Given the description of an element on the screen output the (x, y) to click on. 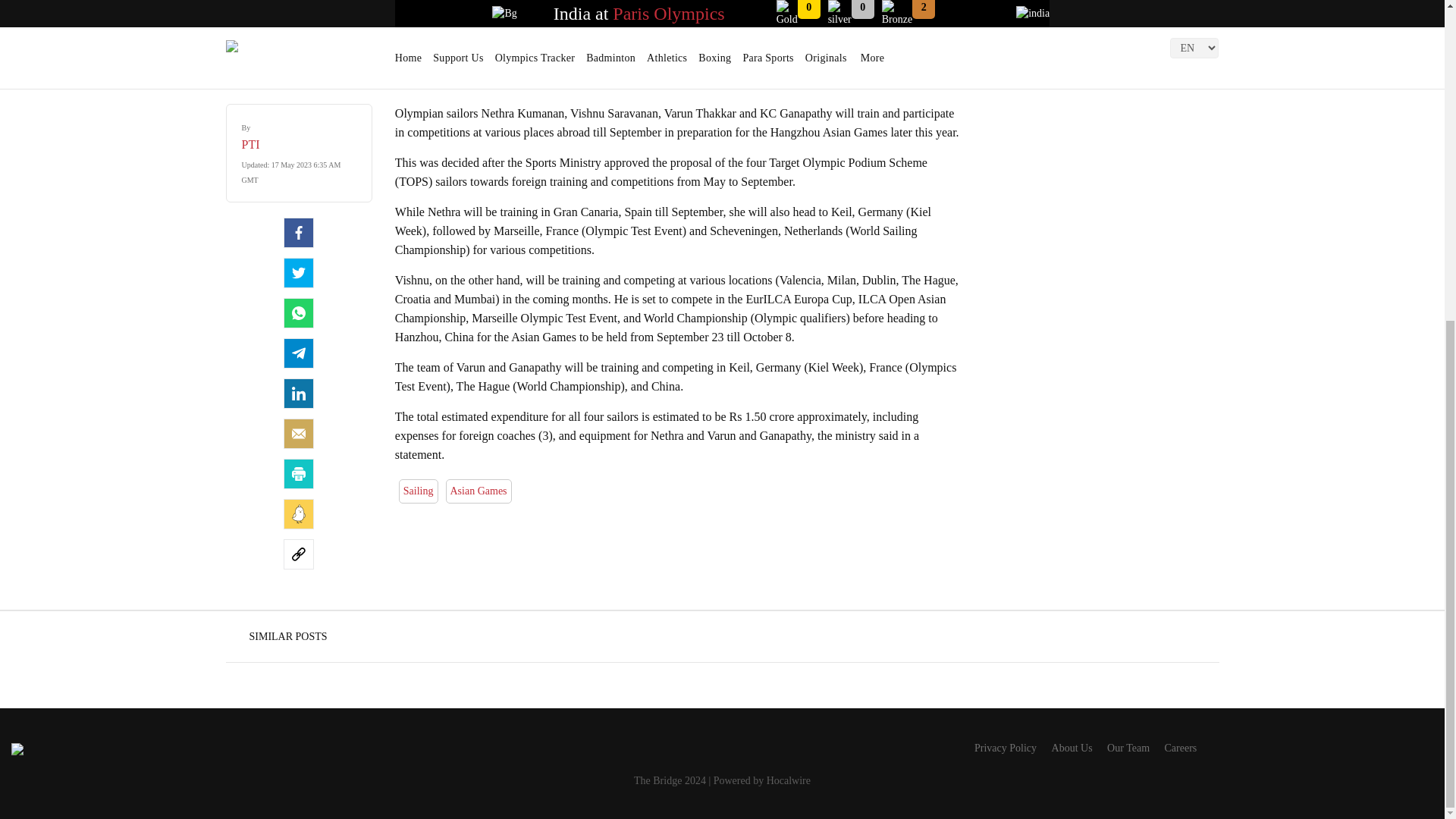
Share by Email (298, 433)
LinkedIn (298, 393)
